Given the description of an element on the screen output the (x, y) to click on. 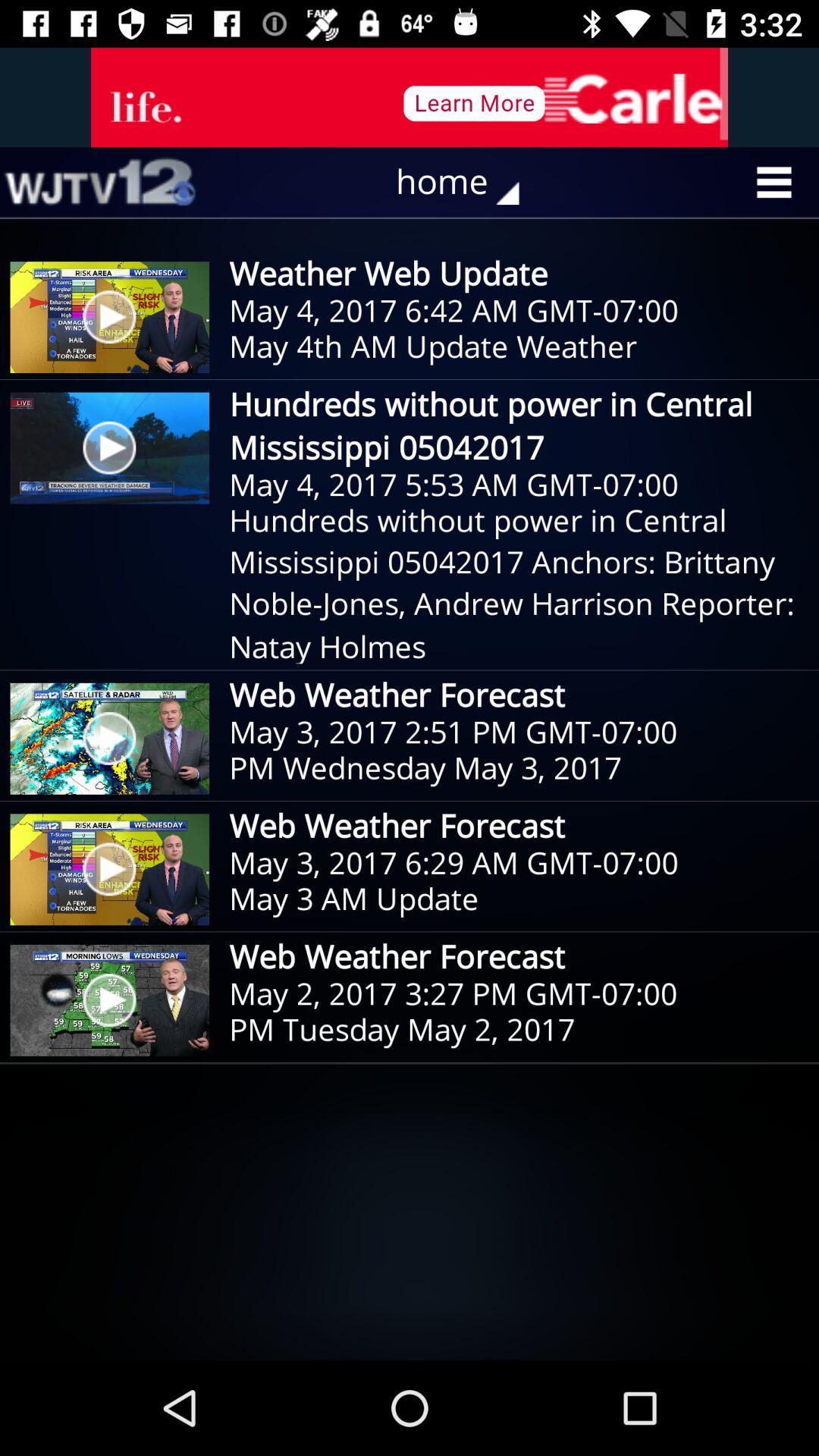
swipe to home item (468, 182)
